Given the description of an element on the screen output the (x, y) to click on. 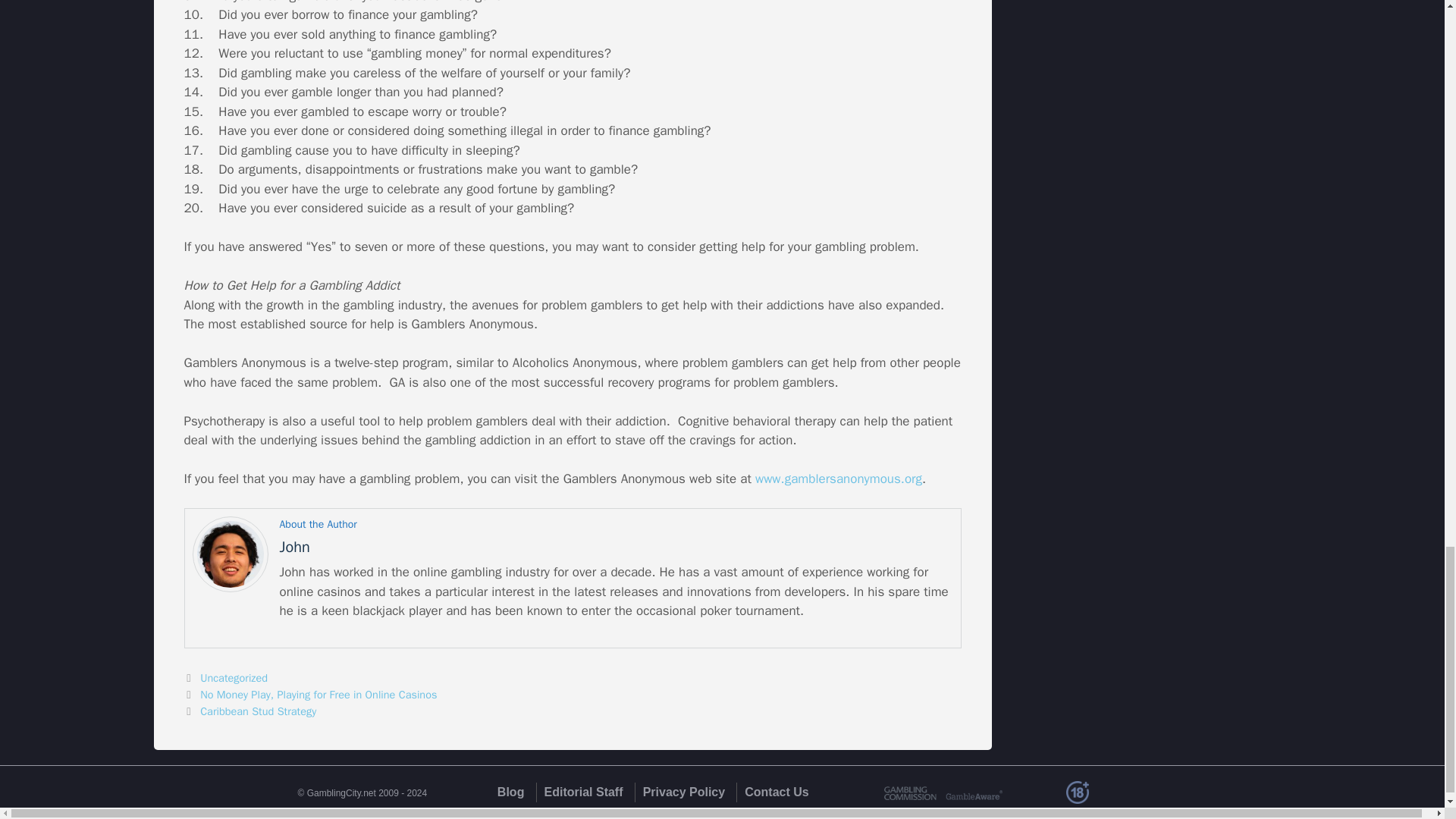
www.gamblersanonymous.org (838, 478)
